Given the description of an element on the screen output the (x, y) to click on. 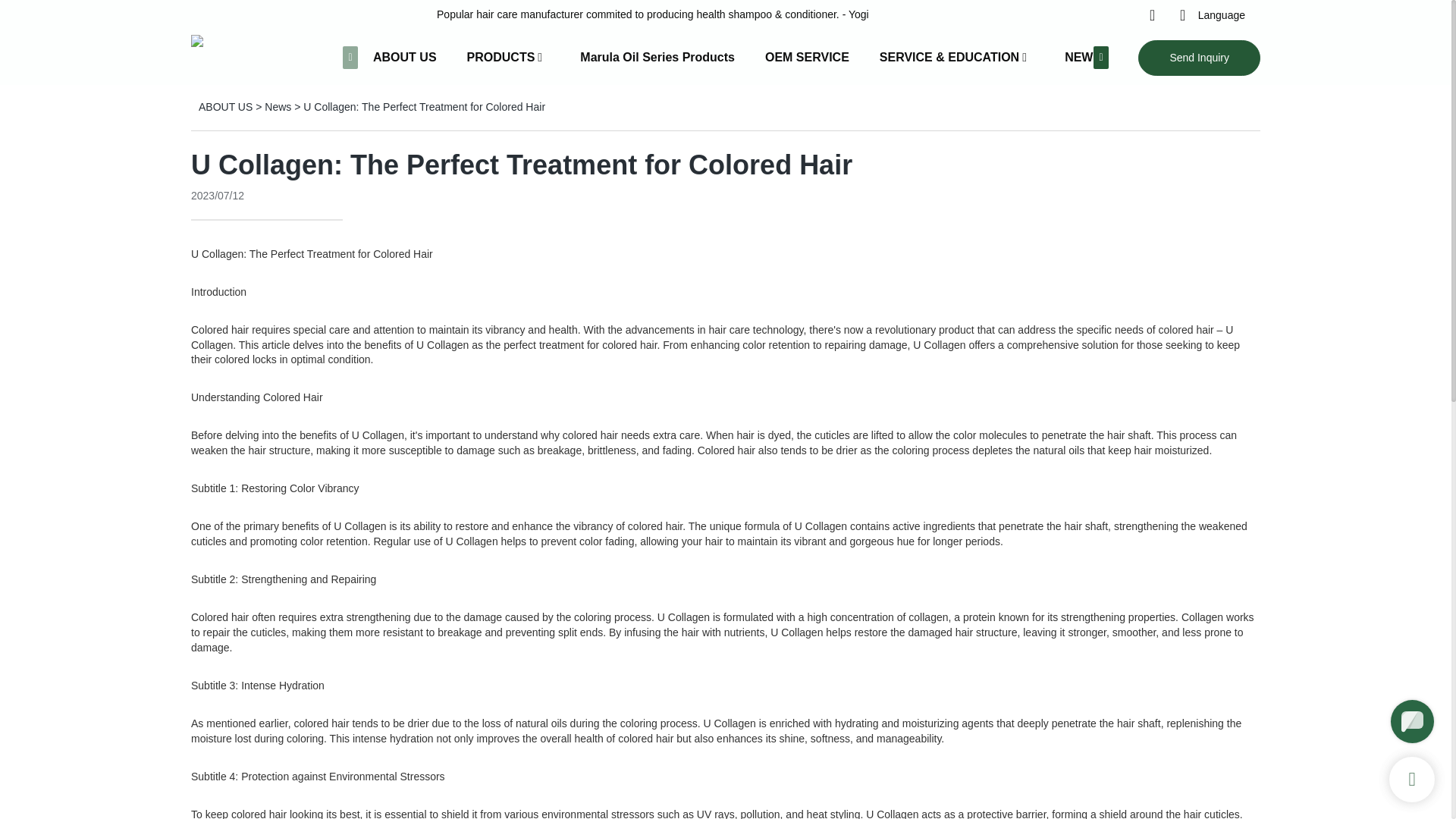
PRODUCTS (501, 57)
ABOUT US (404, 57)
OEM SERVICE (806, 57)
Marula Oil Series Products (657, 57)
